Given the description of an element on the screen output the (x, y) to click on. 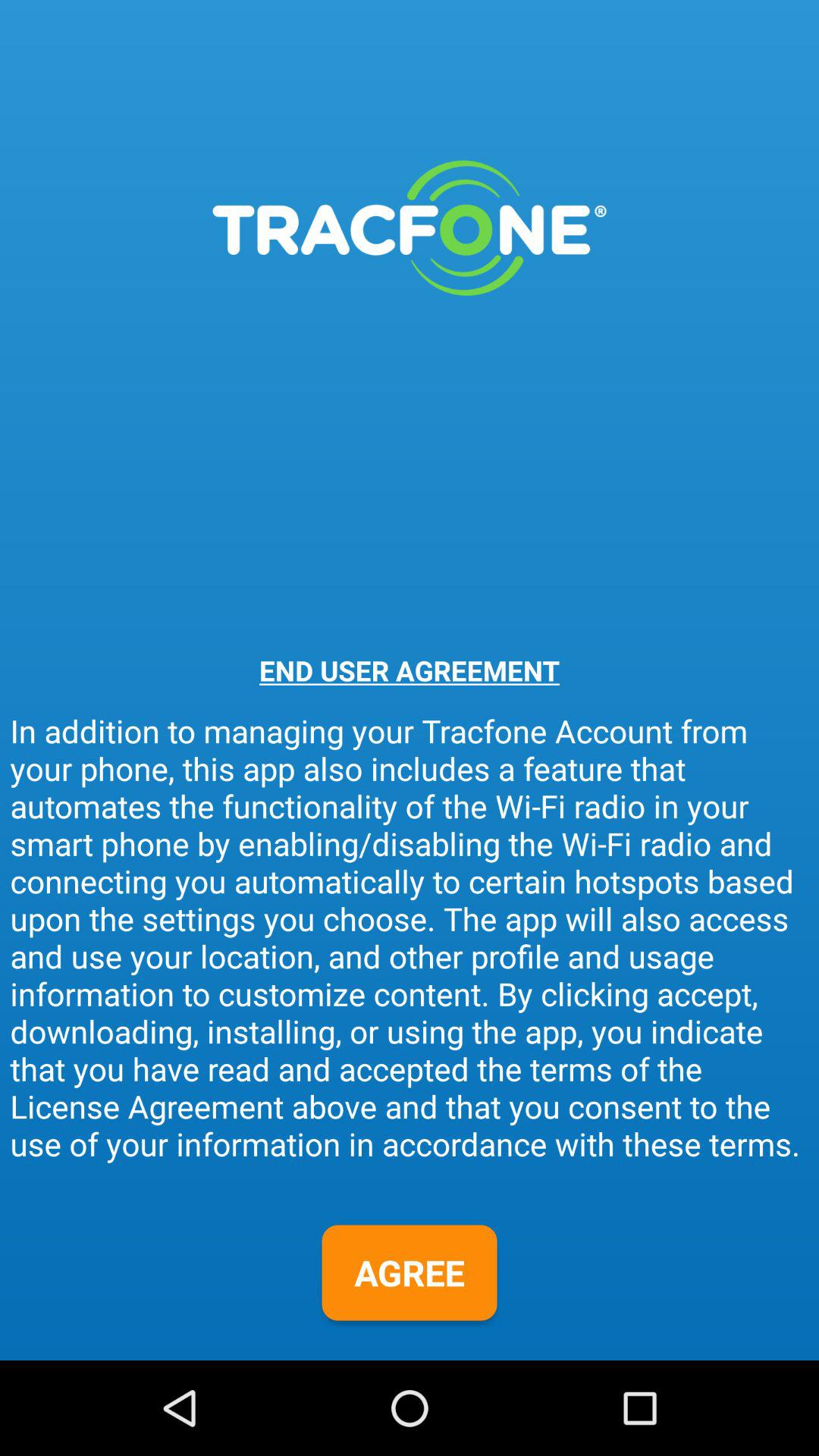
choose the end user agreement item (409, 670)
